Given the description of an element on the screen output the (x, y) to click on. 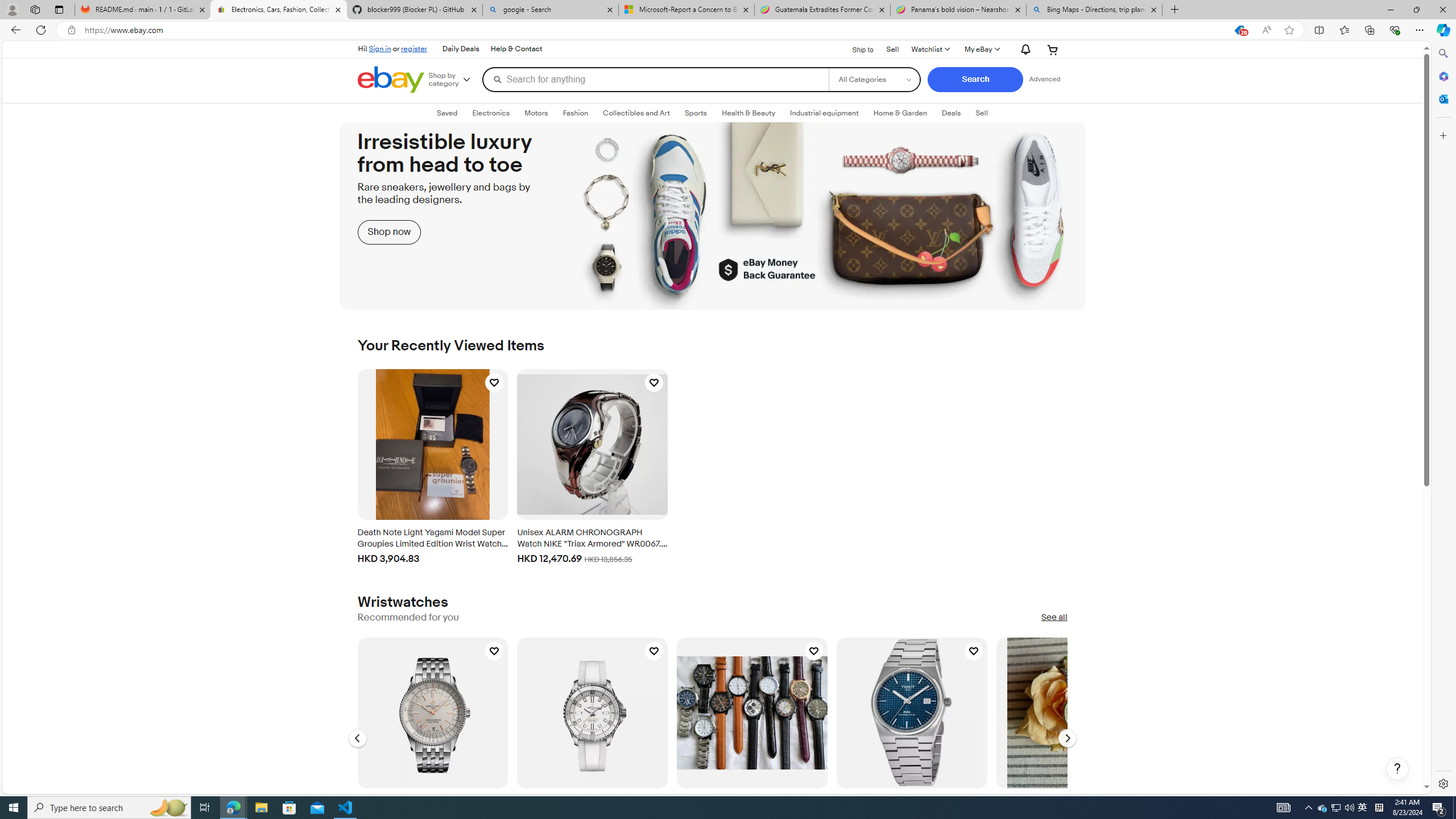
Home & Garden (900, 112)
SellExpand: Sell (981, 112)
Home & GardenExpand: Home & Garden (900, 112)
Your shopping cart (1052, 49)
Irresistible luxury from head to toe (712, 215)
eBay Home (389, 79)
WatchlistExpand Watch List (929, 49)
